Given the description of an element on the screen output the (x, y) to click on. 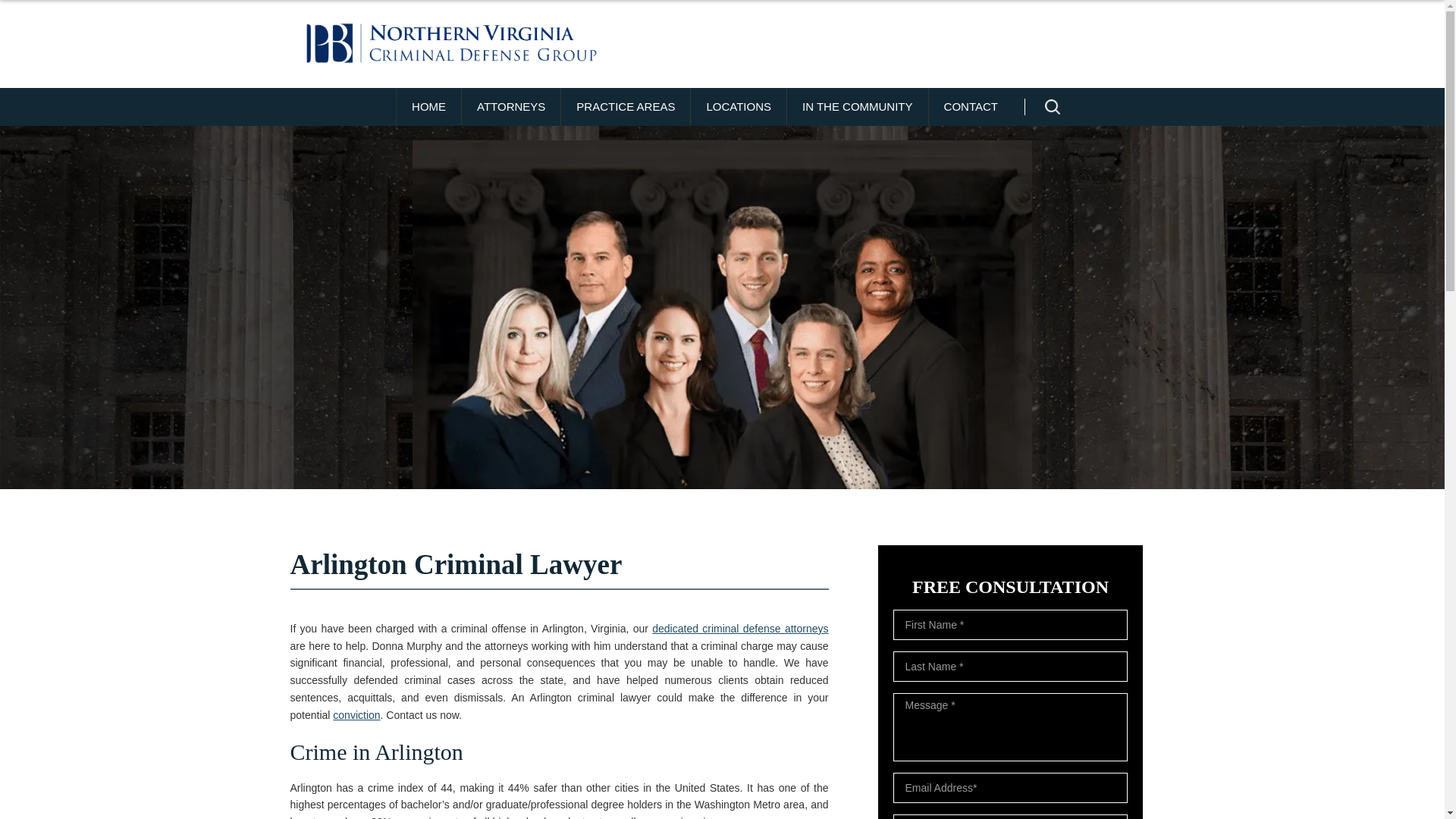
CONTACT (970, 106)
ATTORNEYS (510, 106)
HOME (428, 106)
dedicated criminal defense attorneys (740, 628)
IN THE COMMUNITY (857, 106)
PRACTICE AREAS (625, 106)
conviction (356, 715)
LOCATIONS (738, 106)
